Given the description of an element on the screen output the (x, y) to click on. 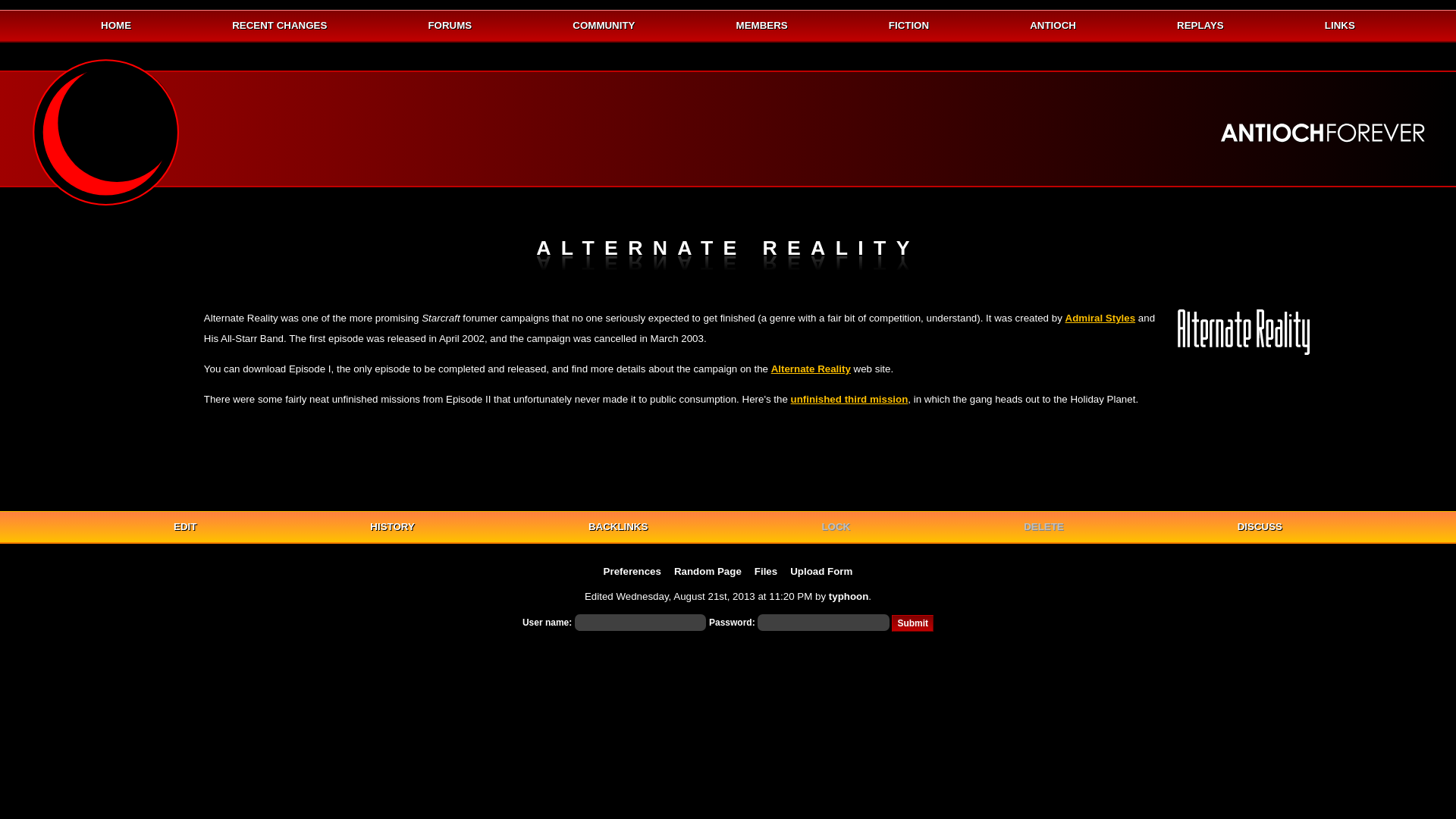
FICTION (908, 25)
BACKLINKS (617, 526)
Fiction (908, 25)
HISTORY (391, 526)
unfinished third mission (849, 398)
Random Page (707, 571)
FORUMS (449, 25)
EDIT (184, 526)
Members (761, 25)
REPLAYS (1200, 25)
